Given the description of an element on the screen output the (x, y) to click on. 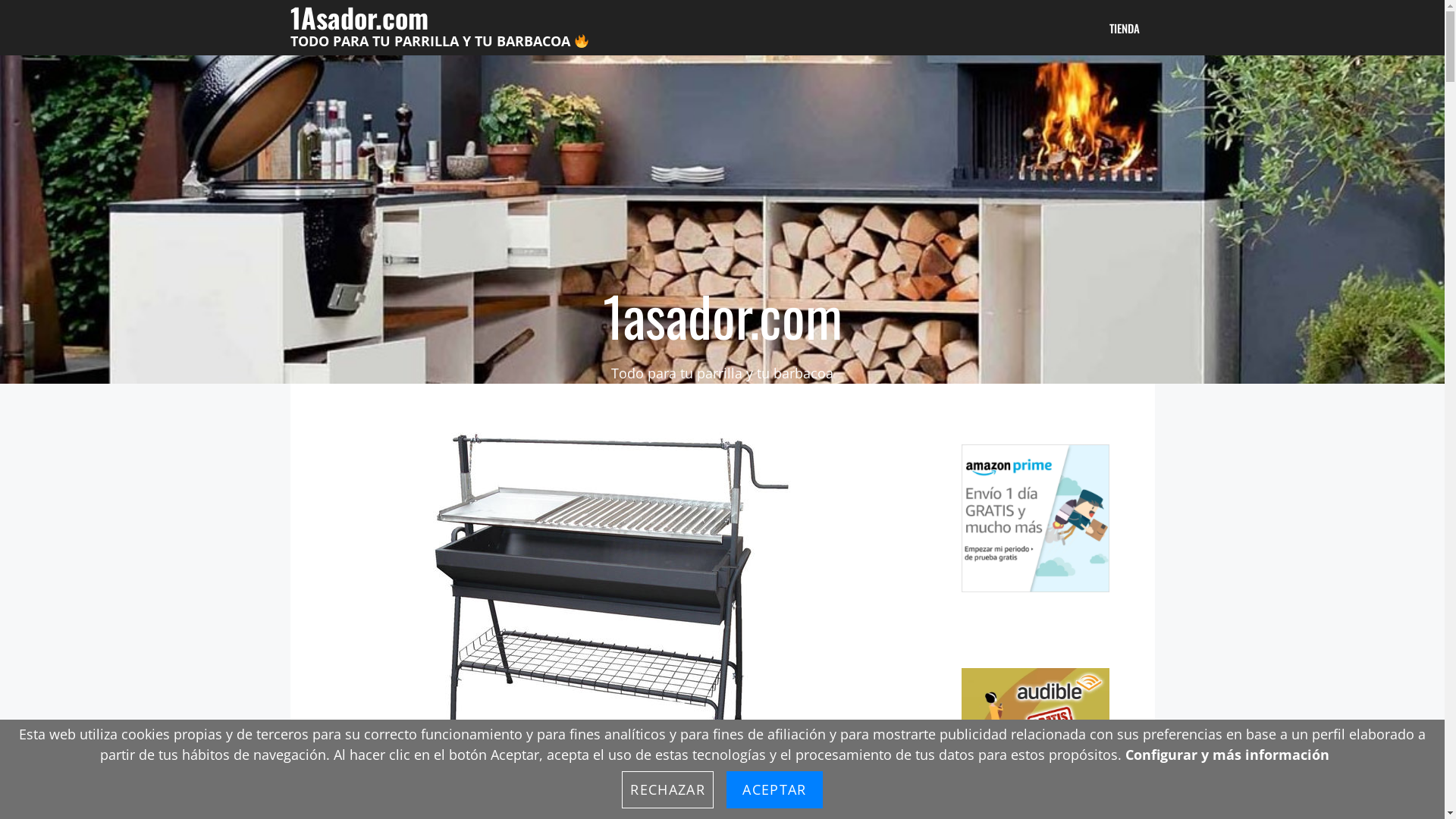
ACEPTAR Element type: text (774, 789)
TIENDA Element type: text (1123, 27)
RECHAZAR Element type: text (667, 789)
